Given the description of an element on the screen output the (x, y) to click on. 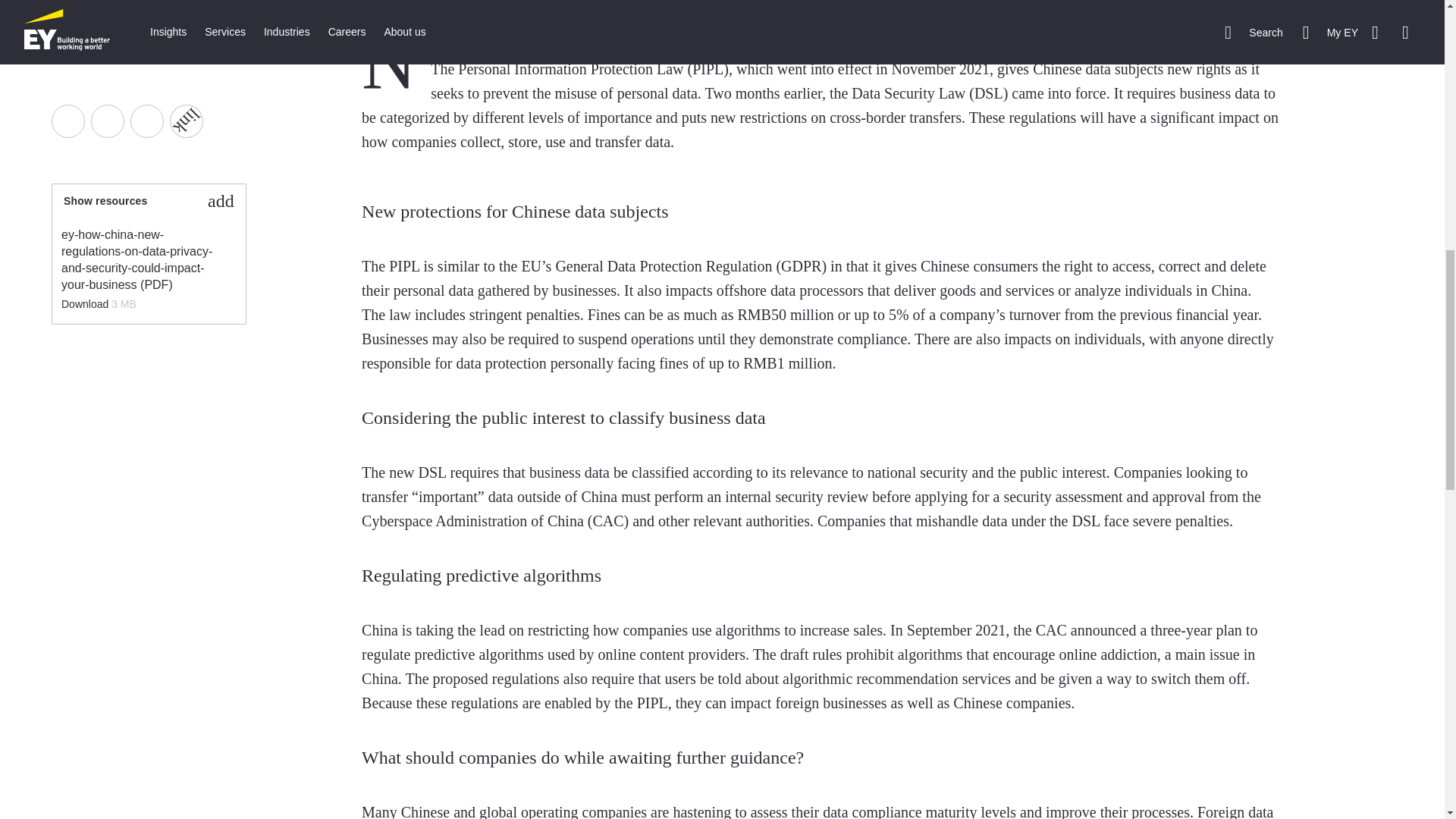
LinkedIn (147, 121)
Download (86, 304)
Twitter (106, 121)
Copy (179, 114)
Facebook (67, 121)
